Given the description of an element on the screen output the (x, y) to click on. 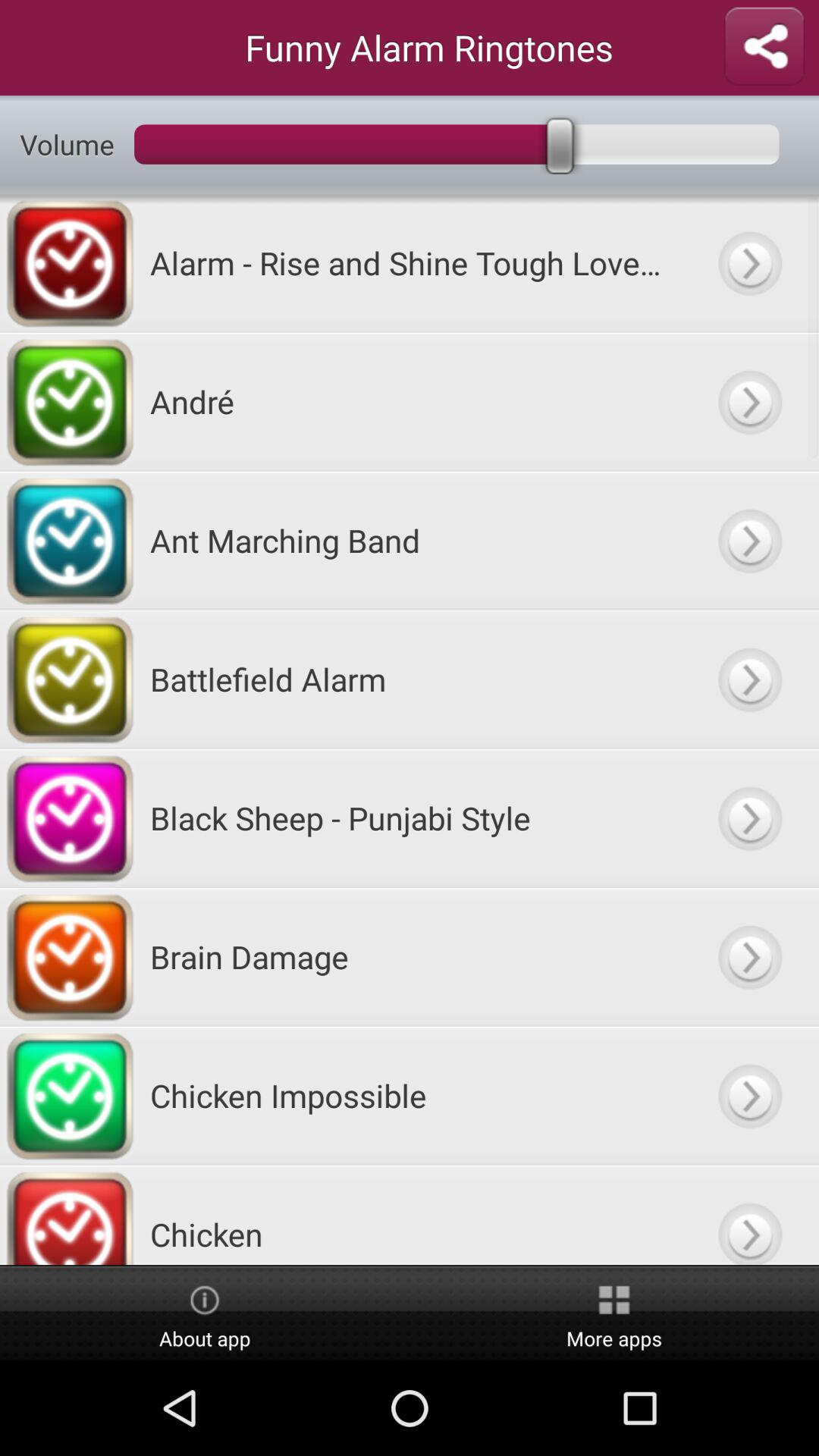
select ringtone (749, 540)
